Given the description of an element on the screen output the (x, y) to click on. 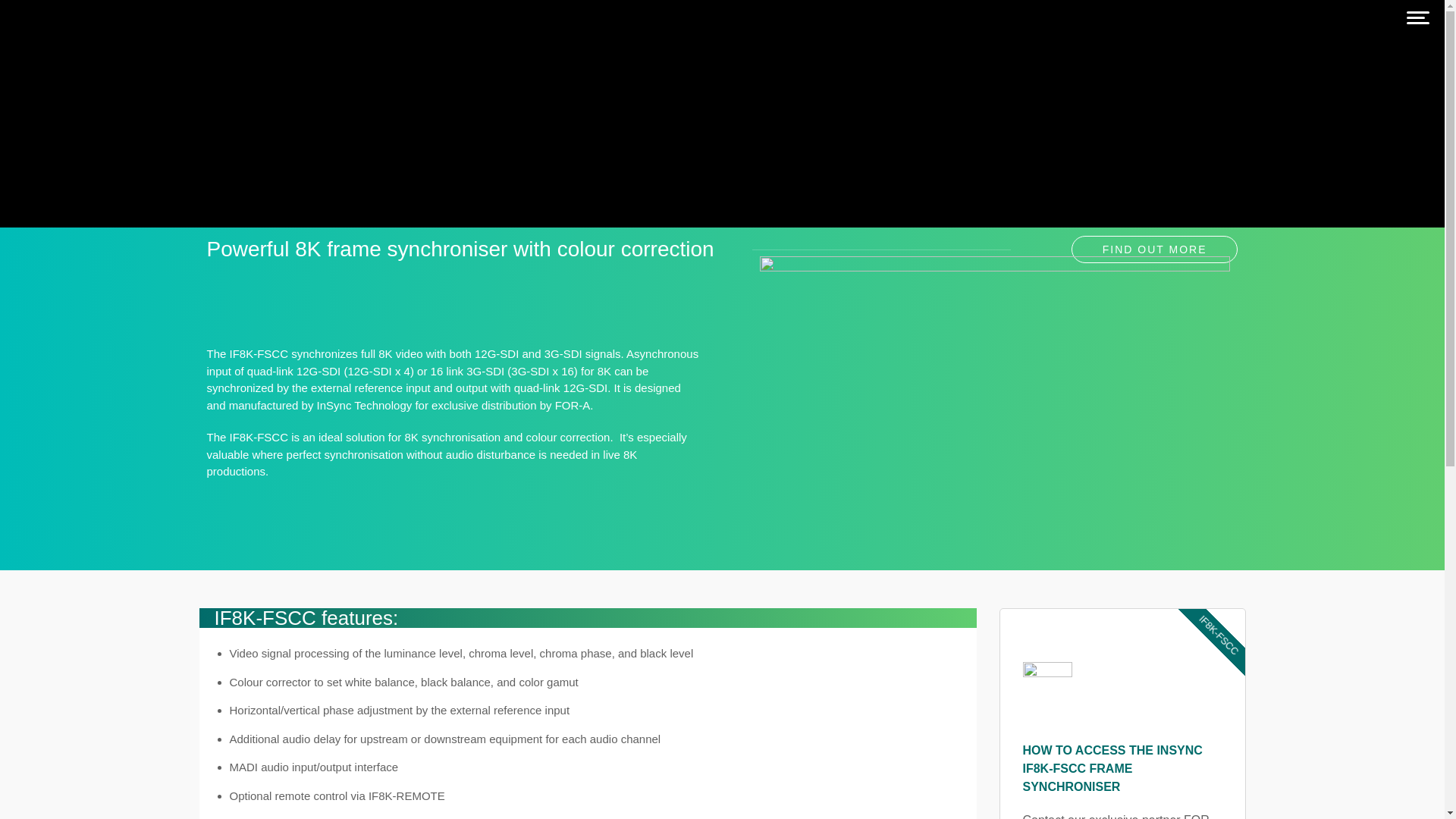
FIND OUT MORE (1155, 248)
